Given the description of an element on the screen output the (x, y) to click on. 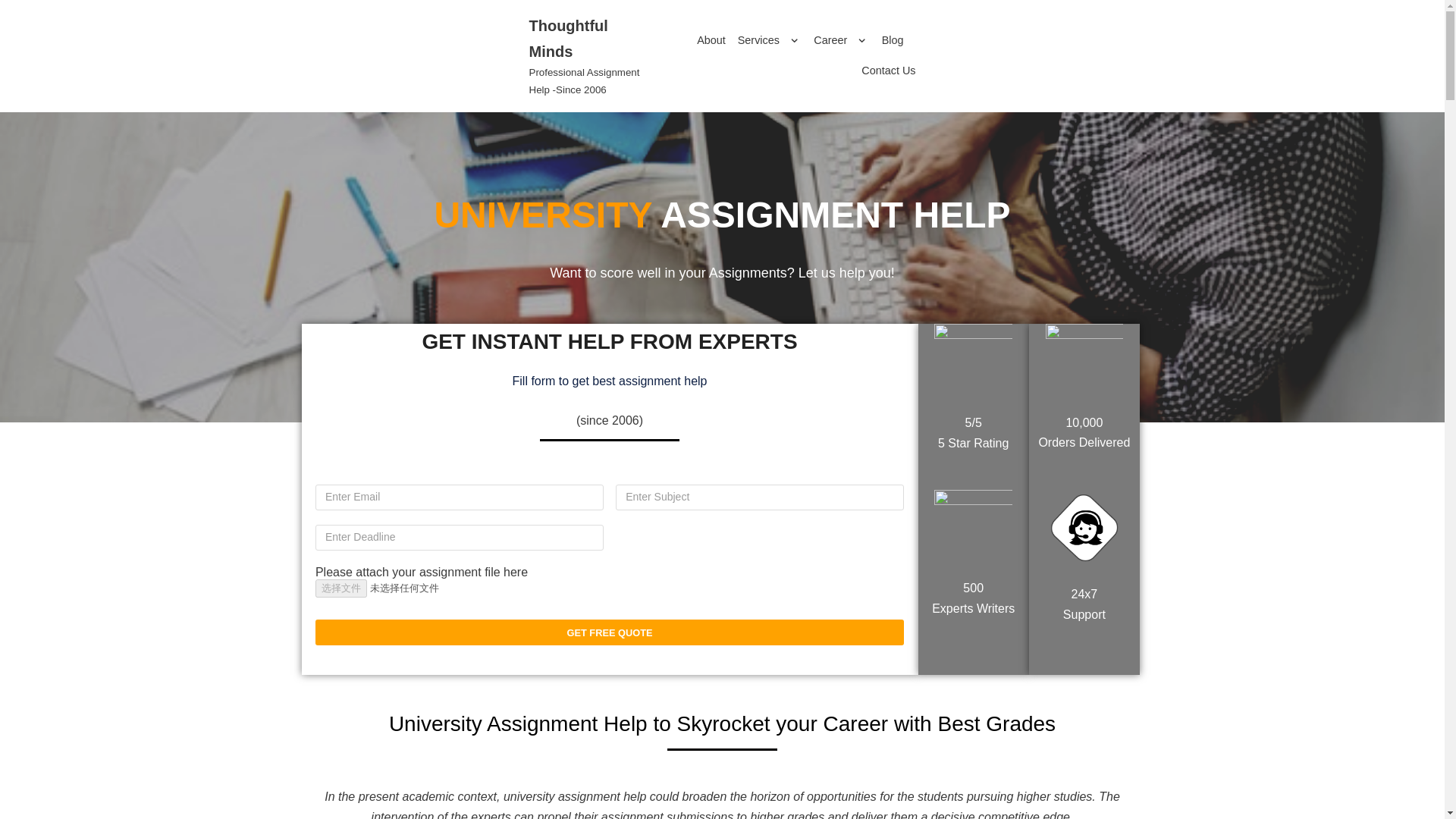
Thoughtful Minds    (586, 55)
Skip to content (15, 31)
About (586, 55)
Services (711, 40)
Get Free Quote (770, 40)
